Given the description of an element on the screen output the (x, y) to click on. 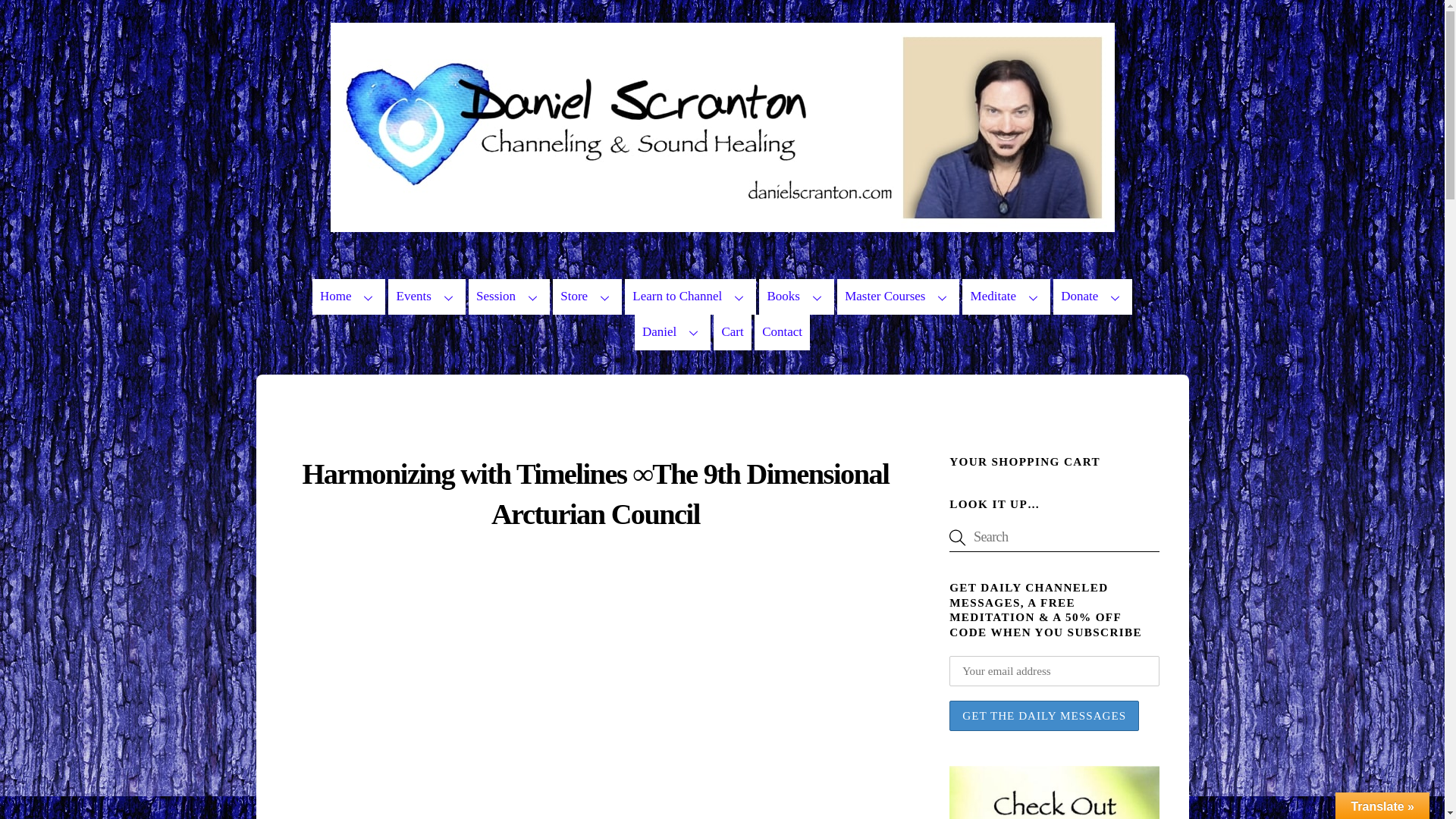
Store (587, 296)
Session (509, 296)
Events (426, 296)
Daniel Scranton's Channeling (722, 224)
Search (1053, 537)
Home (349, 296)
Get the daily messages (1043, 716)
